Given the description of an element on the screen output the (x, y) to click on. 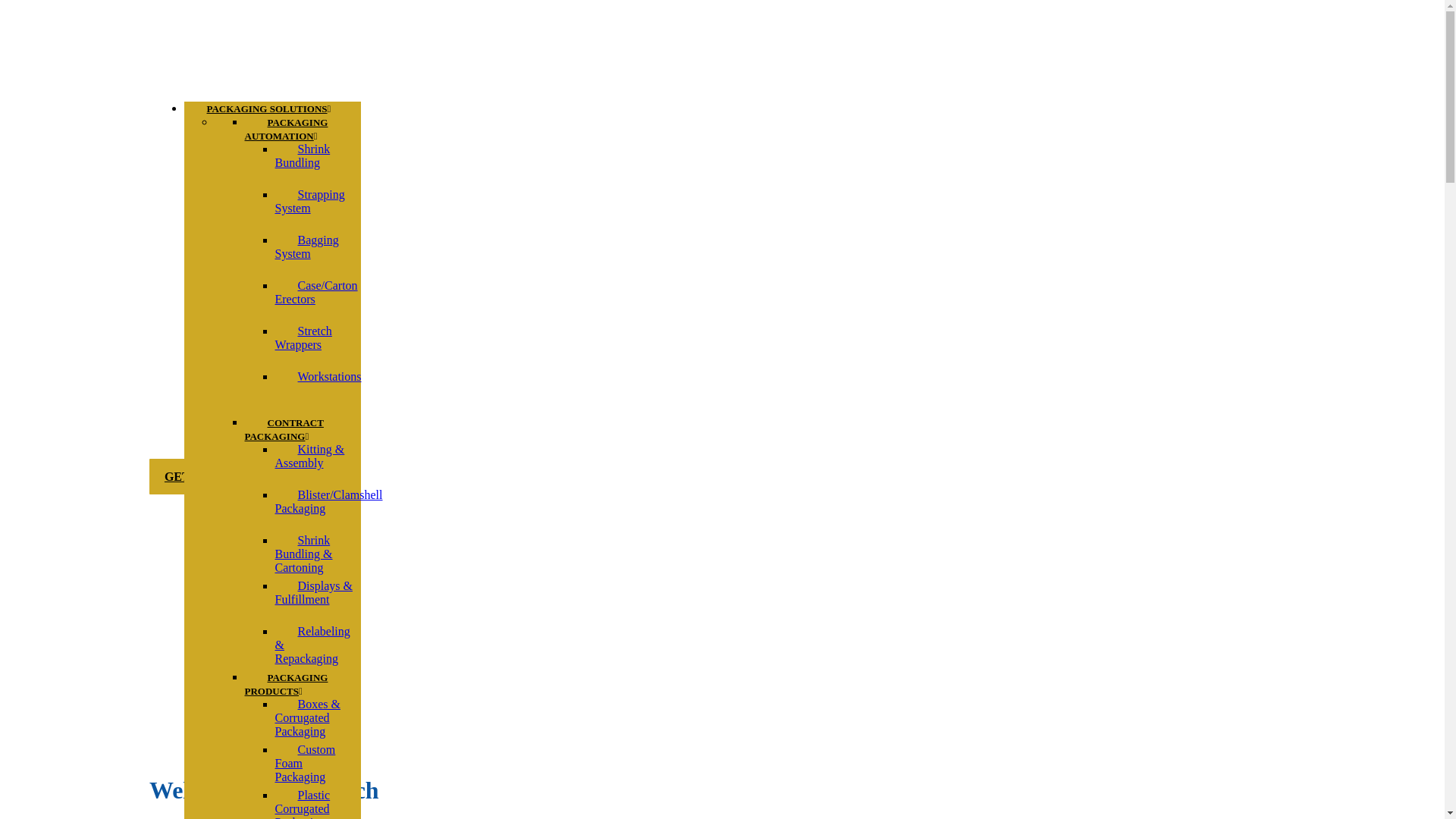
Calculate Custom Box Order (1219, 47)
PACKAGING AUTOMATION (291, 129)
Shrink Bundling (308, 155)
Workstations (329, 376)
SUCCESS STORIES (1027, 47)
Stretch Wrappers (309, 337)
Strapping System (309, 201)
Plastic Corrugated Packaging (311, 796)
PACKAGING PRODUCTS (285, 683)
PACKAGING SOLUTIONS (268, 108)
